Given the description of an element on the screen output the (x, y) to click on. 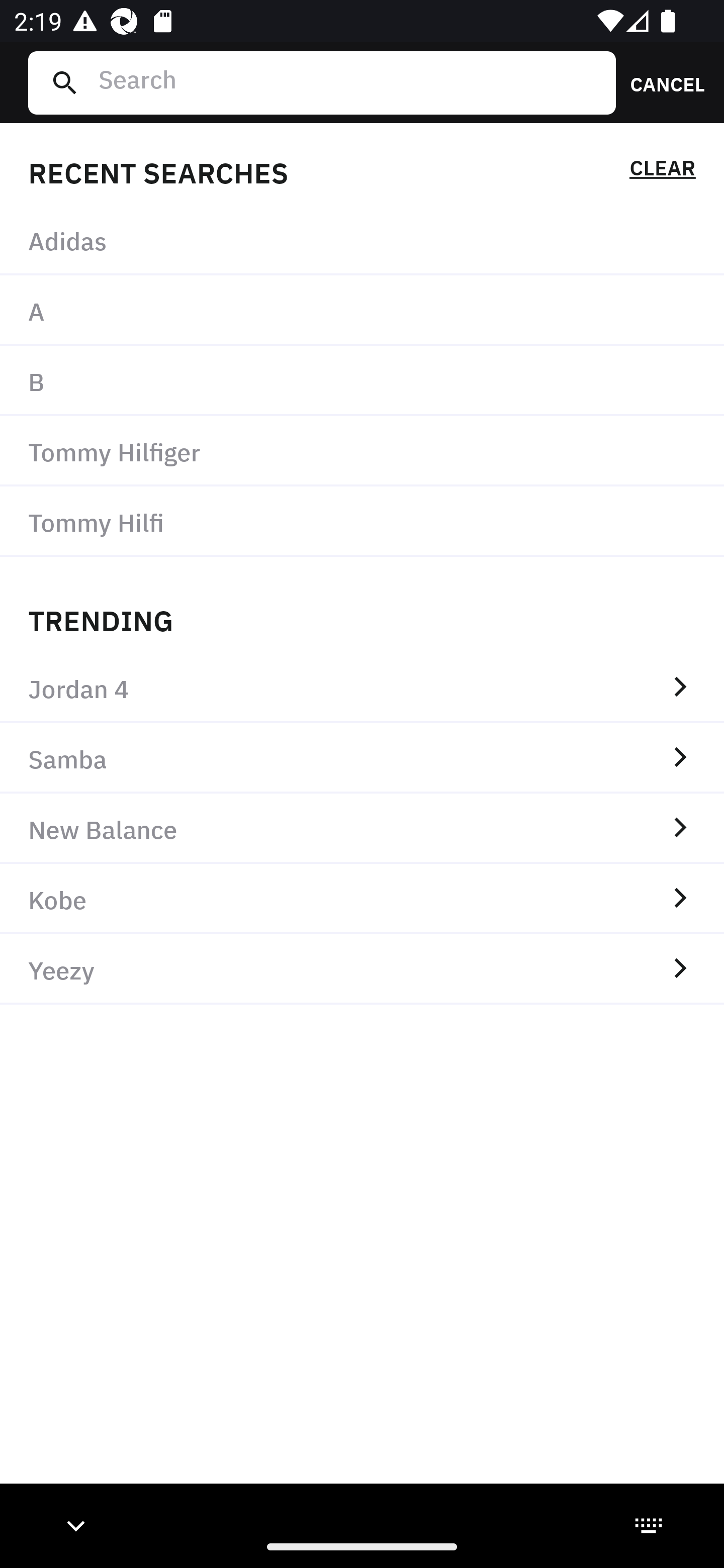
CANCEL (660, 82)
Search (349, 82)
CLEAR (662, 170)
Adidas (362, 240)
A (362, 310)
B (362, 380)
Tommy Hilfiger (362, 450)
Tommy Hilfi (362, 521)
Jordan 4  (362, 687)
Samba  (362, 757)
New Balance  (362, 828)
Kobe  (362, 898)
Yeezy  (362, 969)
